Given the description of an element on the screen output the (x, y) to click on. 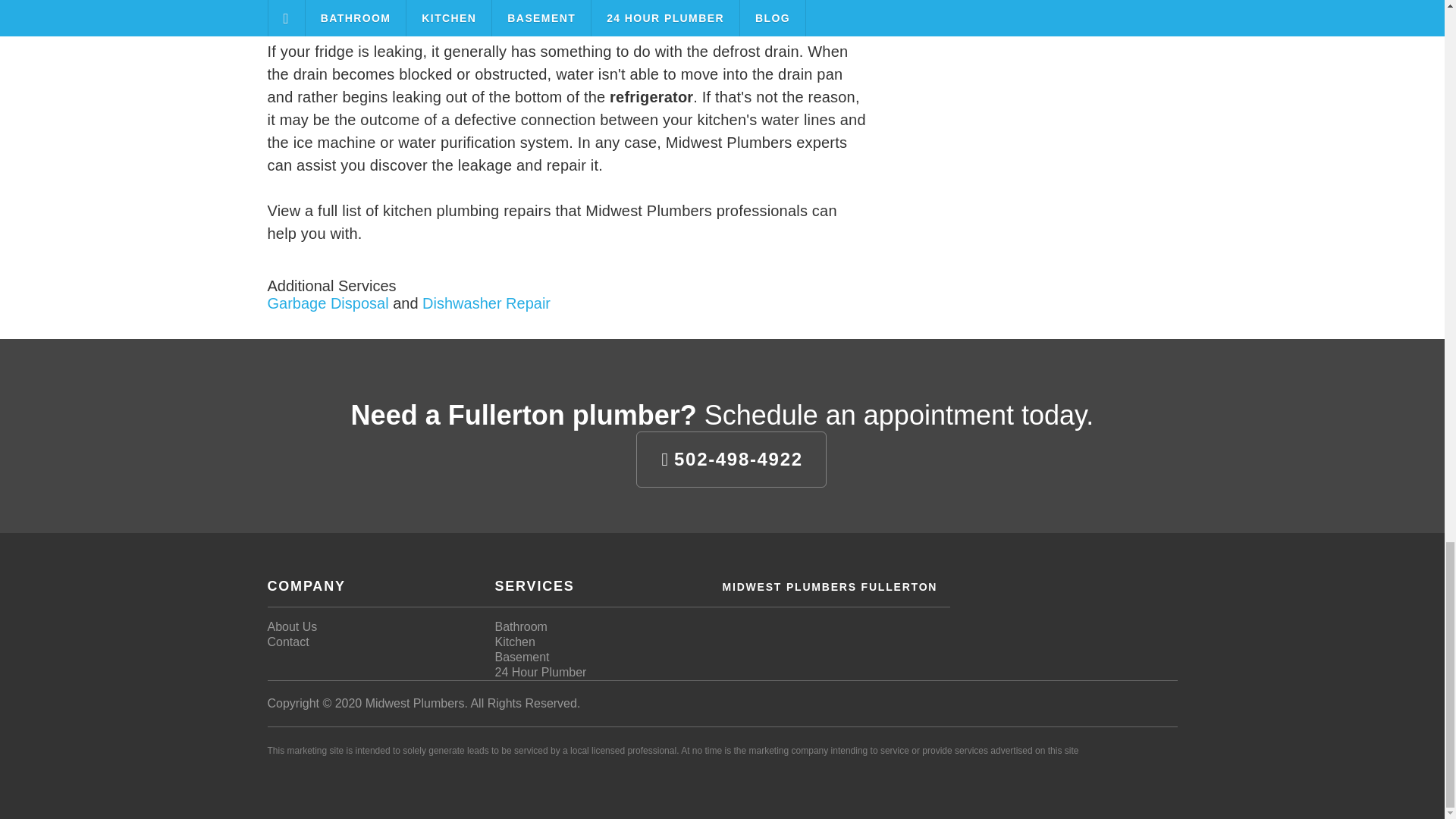
Bathroom (521, 626)
Basement (521, 656)
24 Hour Plumber (540, 671)
Contact (287, 641)
Garbage Disposal (327, 303)
502-498-4922 (730, 459)
About Us (291, 626)
Dishwasher Repair (486, 303)
Kitchen (514, 641)
